Given the description of an element on the screen output the (x, y) to click on. 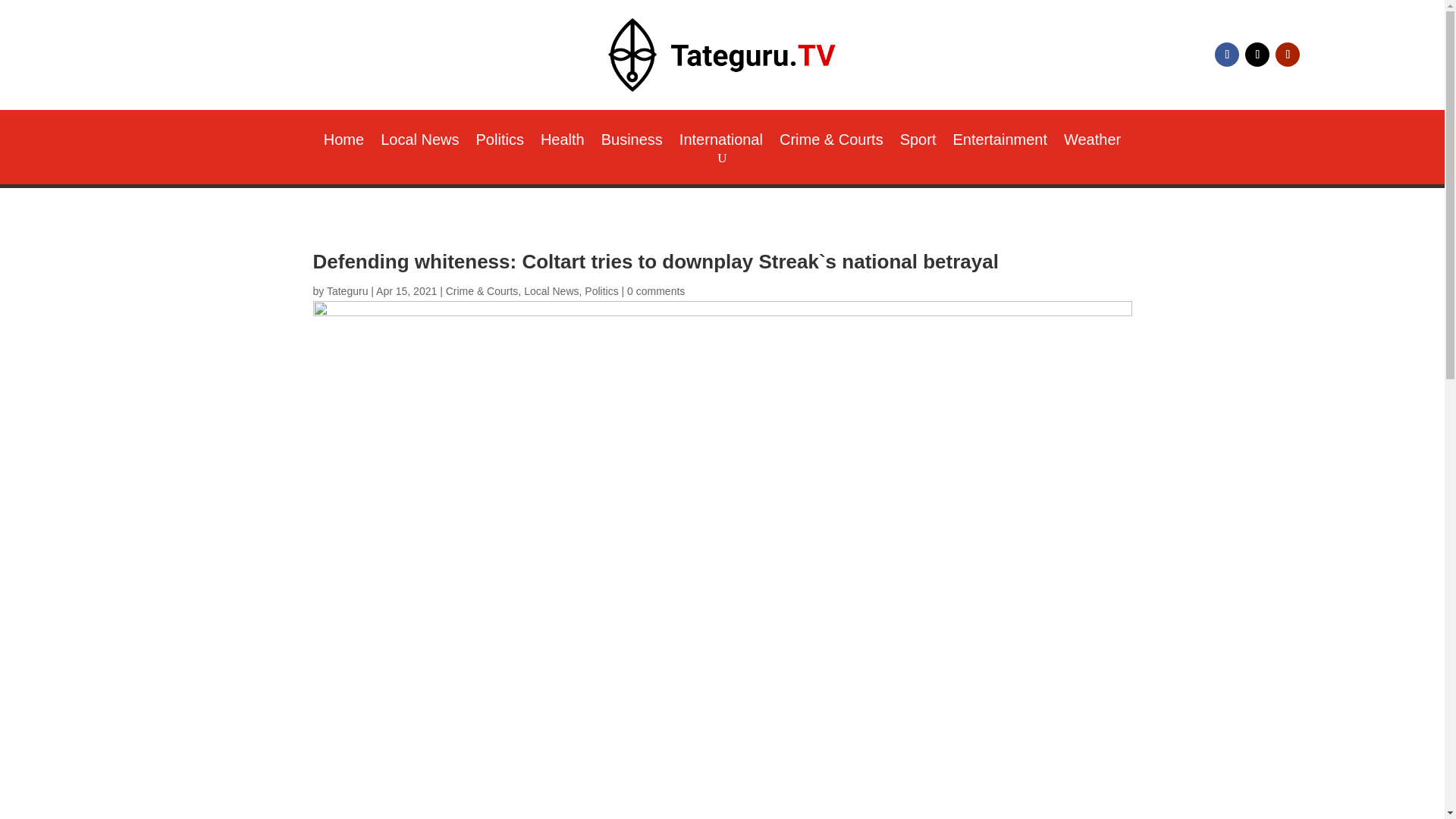
Local News (419, 142)
Follow on X (1256, 54)
Weather (1092, 142)
Business (631, 142)
Sport (917, 142)
Posts by Tateguru (347, 291)
Health (562, 142)
International (720, 142)
Entertainment (999, 142)
